Given the description of an element on the screen output the (x, y) to click on. 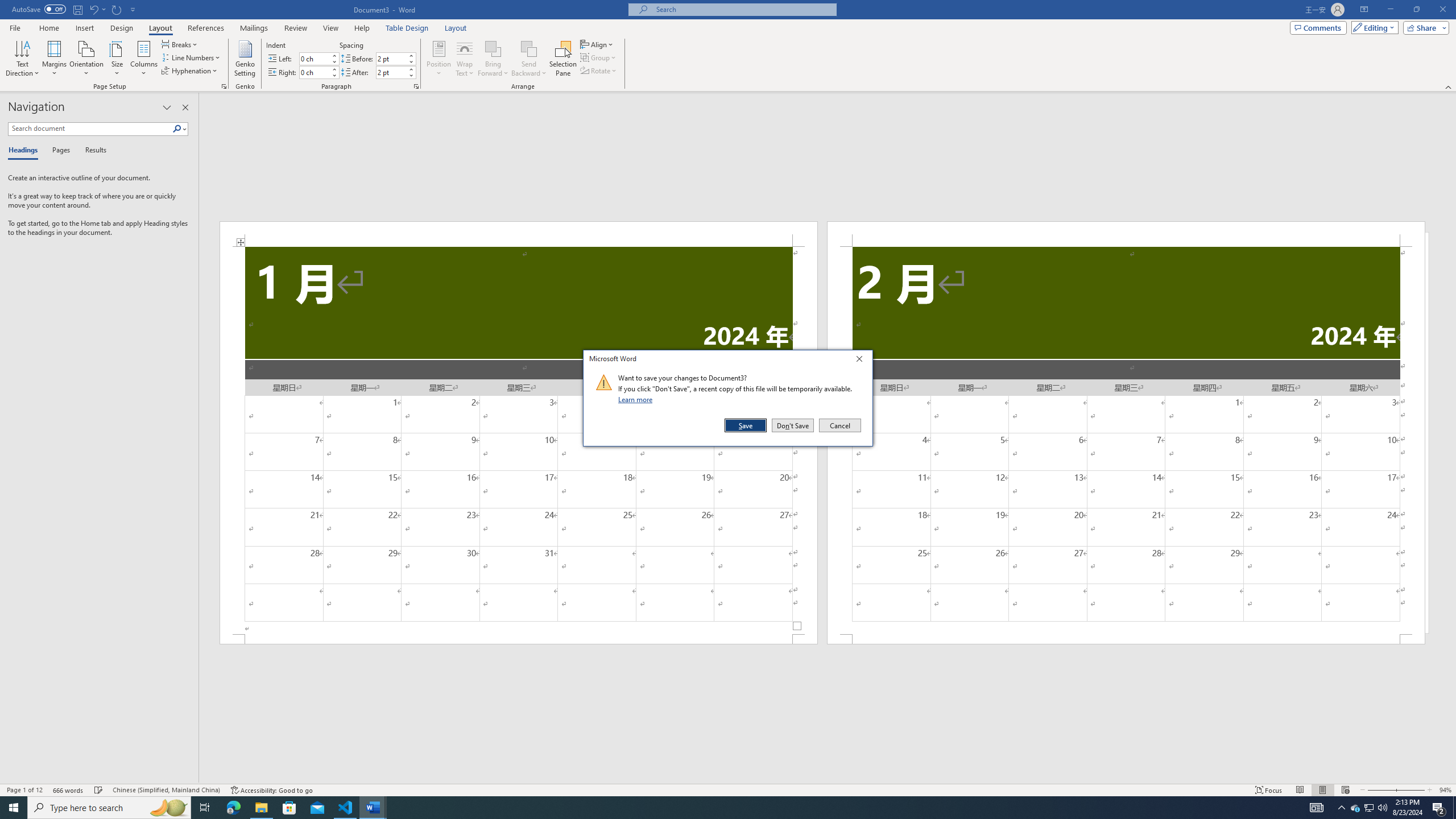
Indent Left (314, 58)
Group (599, 56)
Rotate (599, 69)
AutomationID: 4105 (1316, 807)
Microsoft Store (289, 807)
Hyphenation (189, 69)
Restore Down (1416, 9)
Accessibility Checker Accessibility: Good to go (271, 790)
Mode (1372, 27)
User Promoted Notification Area (1368, 807)
Running applications (717, 807)
Customize Quick Access Toolbar (133, 9)
